Given the description of an element on the screen output the (x, y) to click on. 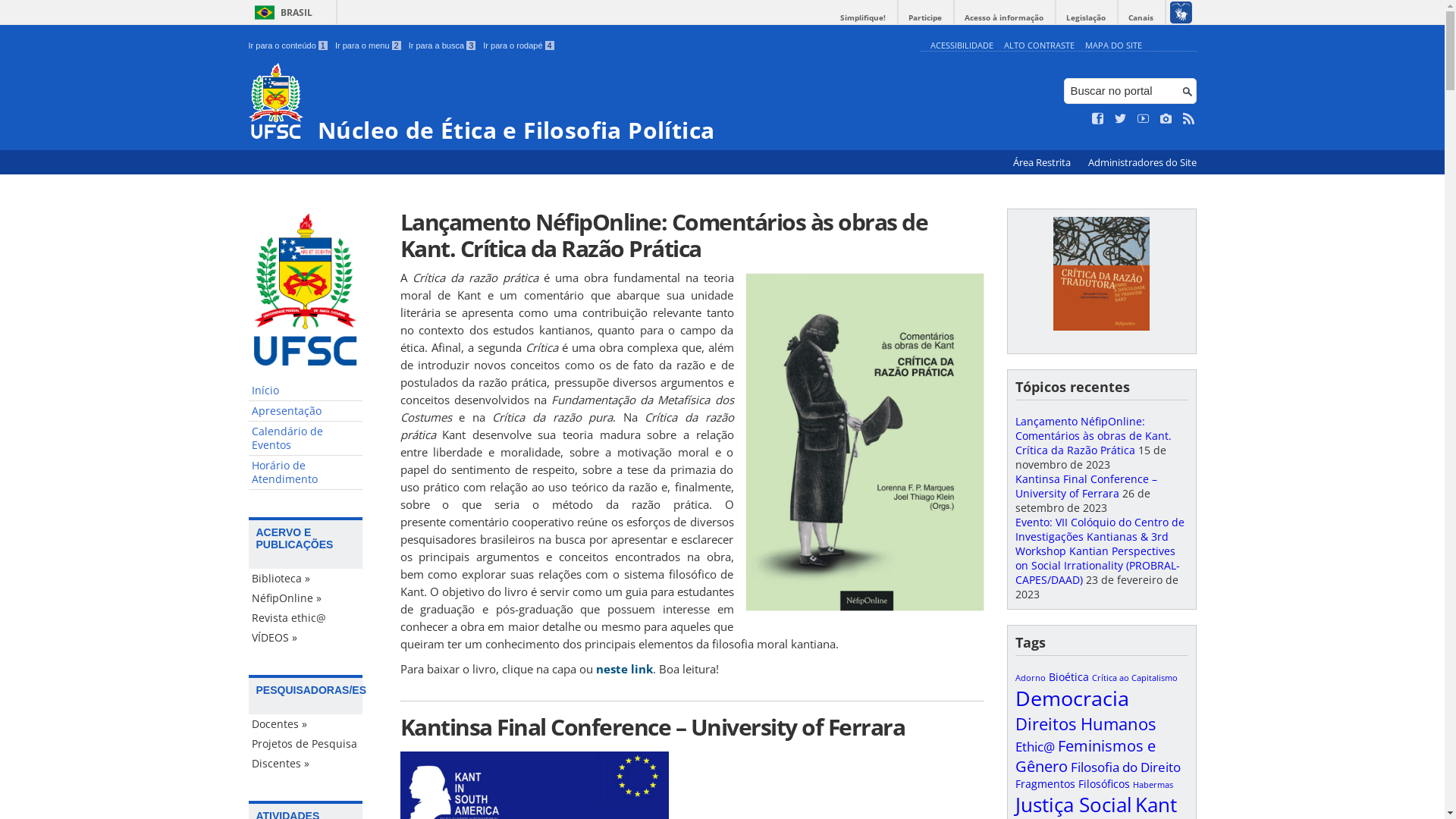
ALTO CONTRASTE Element type: text (1039, 44)
Siga no Twitter Element type: hover (1120, 118)
MAPA DO SITE Element type: text (1112, 44)
Ir para o menu 2 Element type: text (368, 45)
Direitos Humanos Element type: text (1084, 723)
neste link Element type: text (624, 668)
Adorno Element type: text (1029, 677)
Ir para a busca 3 Element type: text (442, 45)
Participe Element type: text (924, 18)
Simplifique! Element type: text (862, 18)
Projetos de Pesquisa Element type: text (305, 743)
BRASIL Element type: text (280, 12)
Kant Element type: text (1155, 804)
Habermas Element type: text (1152, 784)
Canais Element type: text (1140, 18)
ACESSIBILIDADE Element type: text (960, 44)
Ethic@ Element type: text (1034, 746)
Veja no Instagram Element type: hover (1166, 118)
Revista ethic@ Element type: text (305, 617)
Curta no Facebook Element type: hover (1098, 118)
Administradores do Site Element type: text (1141, 162)
Filosofia do Direito Element type: text (1125, 766)
Democracia Element type: text (1071, 698)
